Given the description of an element on the screen output the (x, y) to click on. 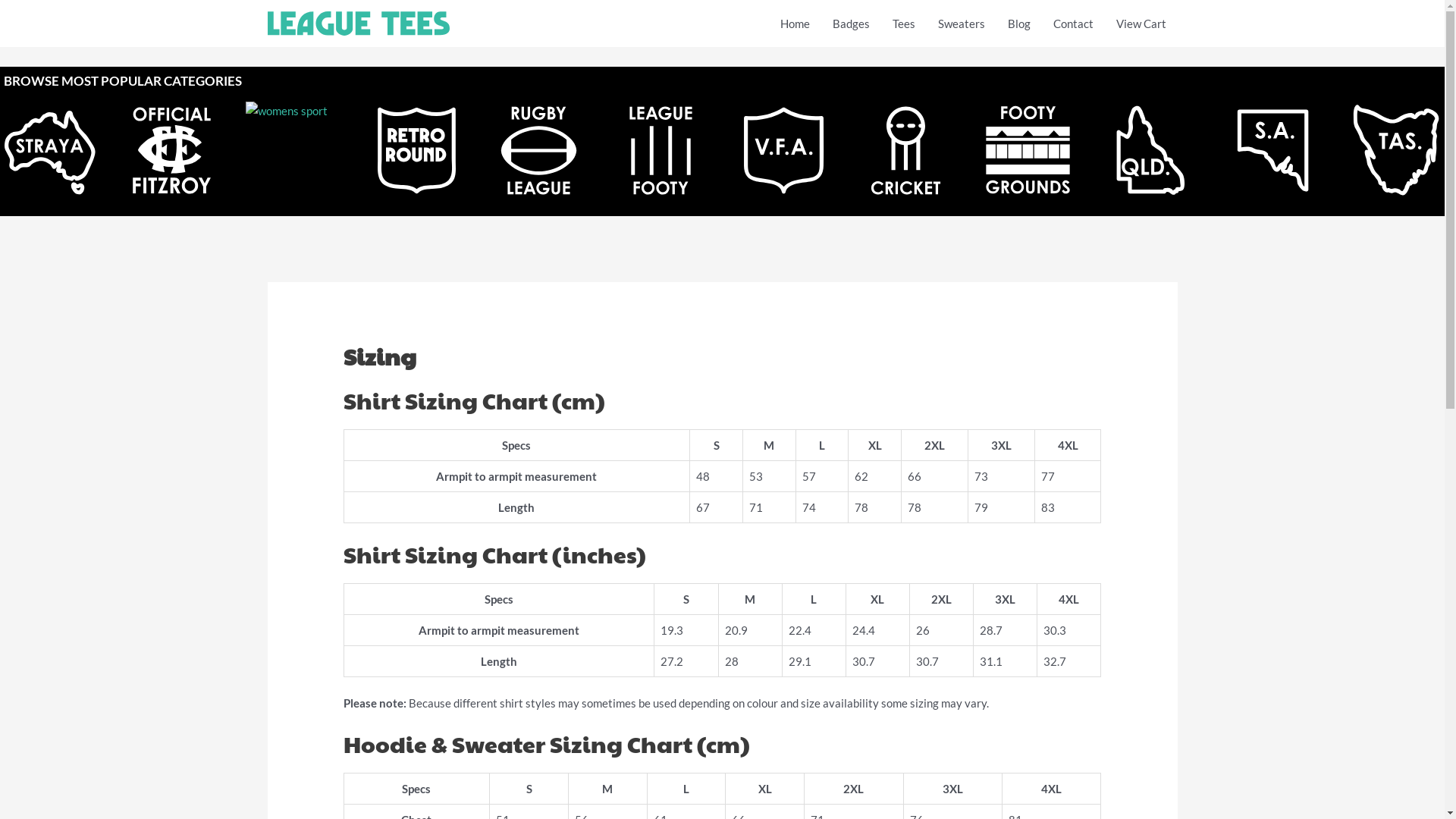
Sweaters Element type: text (961, 23)
Home Element type: text (794, 23)
Badges Element type: text (850, 23)
Tees Element type: text (903, 23)
View Cart Element type: text (1140, 23)
Blog Element type: text (1018, 23)
Contact Element type: text (1072, 23)
